Given the description of an element on the screen output the (x, y) to click on. 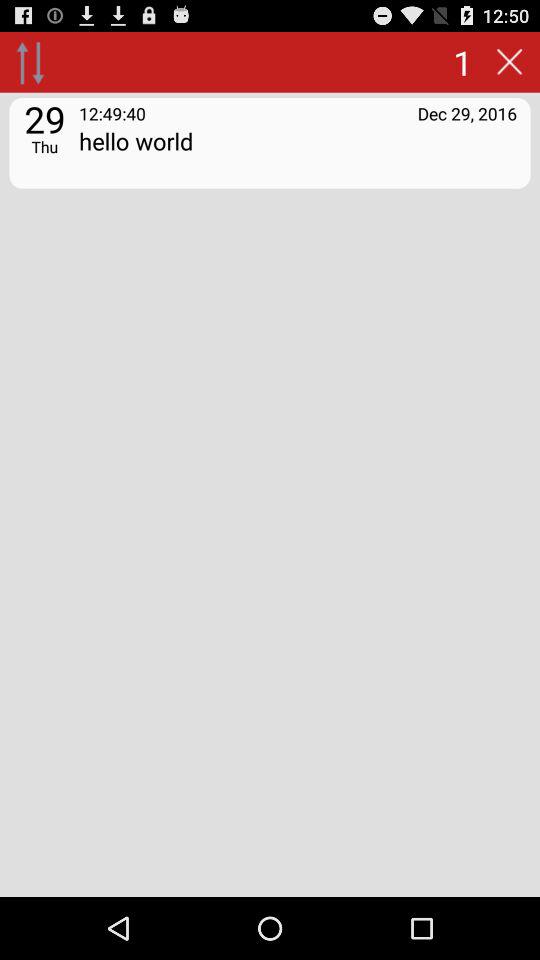
page up or down (30, 61)
